Given the description of an element on the screen output the (x, y) to click on. 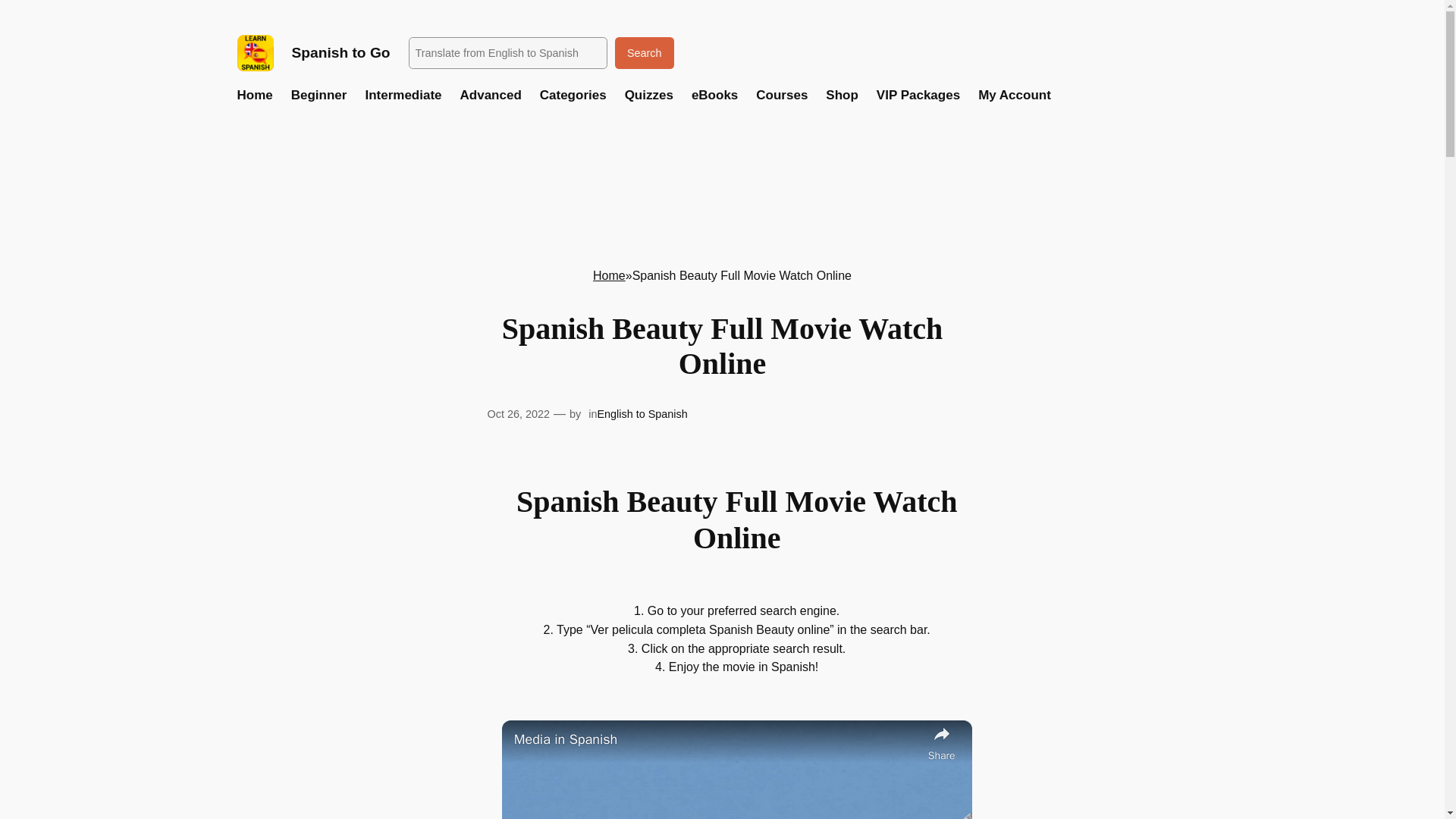
Home (609, 275)
Beginner (319, 95)
English to Spanish (641, 413)
Quizzes (648, 95)
Advanced (490, 95)
Spanish to Go (340, 52)
Categories (573, 95)
Courses (781, 95)
Shop (842, 95)
Media in Spanish (716, 740)
Intermediate (403, 95)
Oct 26, 2022 (517, 413)
Search (644, 52)
eBooks (714, 95)
